Given the description of an element on the screen output the (x, y) to click on. 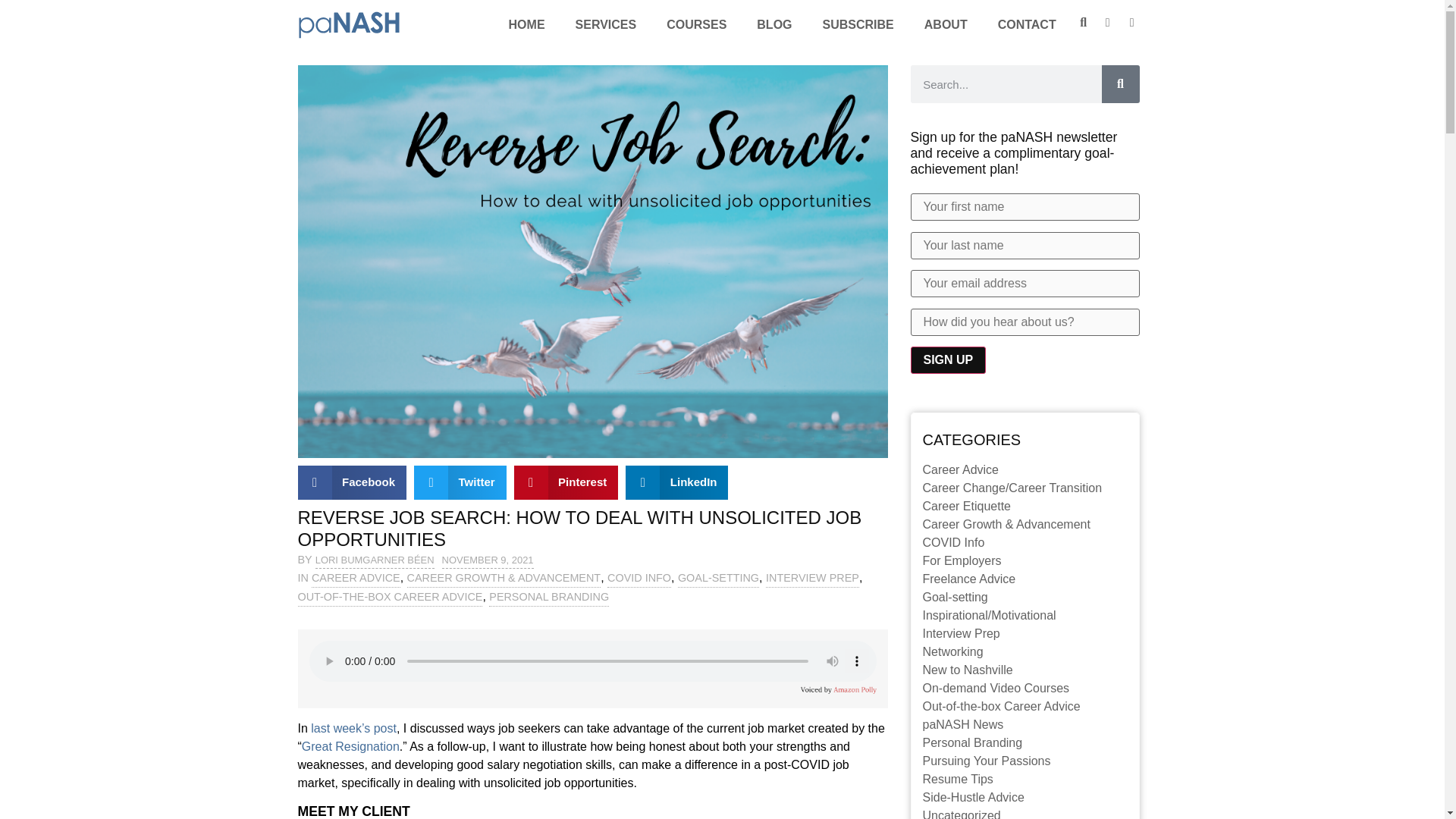
SUBSCRIBE (858, 24)
CAREER ADVICE (355, 579)
HOME (526, 24)
NOVEMBER 9, 2021 (488, 560)
CONTACT (1026, 24)
INTERVIEW PREP (812, 579)
Great Resignation (349, 746)
COURSES (695, 24)
PERSONAL BRANDING (548, 597)
COVID INFO (639, 579)
